Given the description of an element on the screen output the (x, y) to click on. 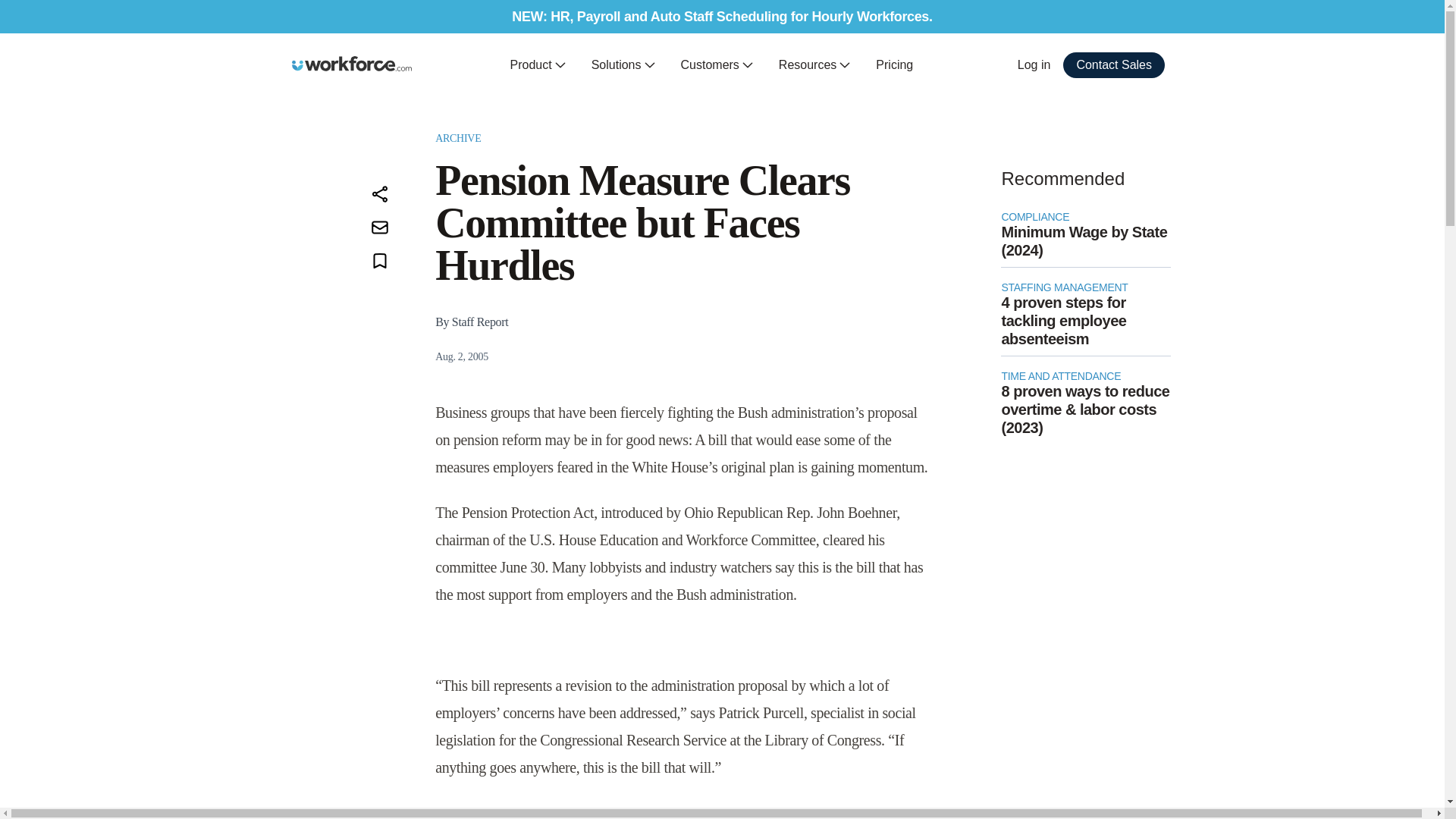
Product (539, 65)
Solutions (623, 65)
Workforce.com (351, 63)
